Given the description of an element on the screen output the (x, y) to click on. 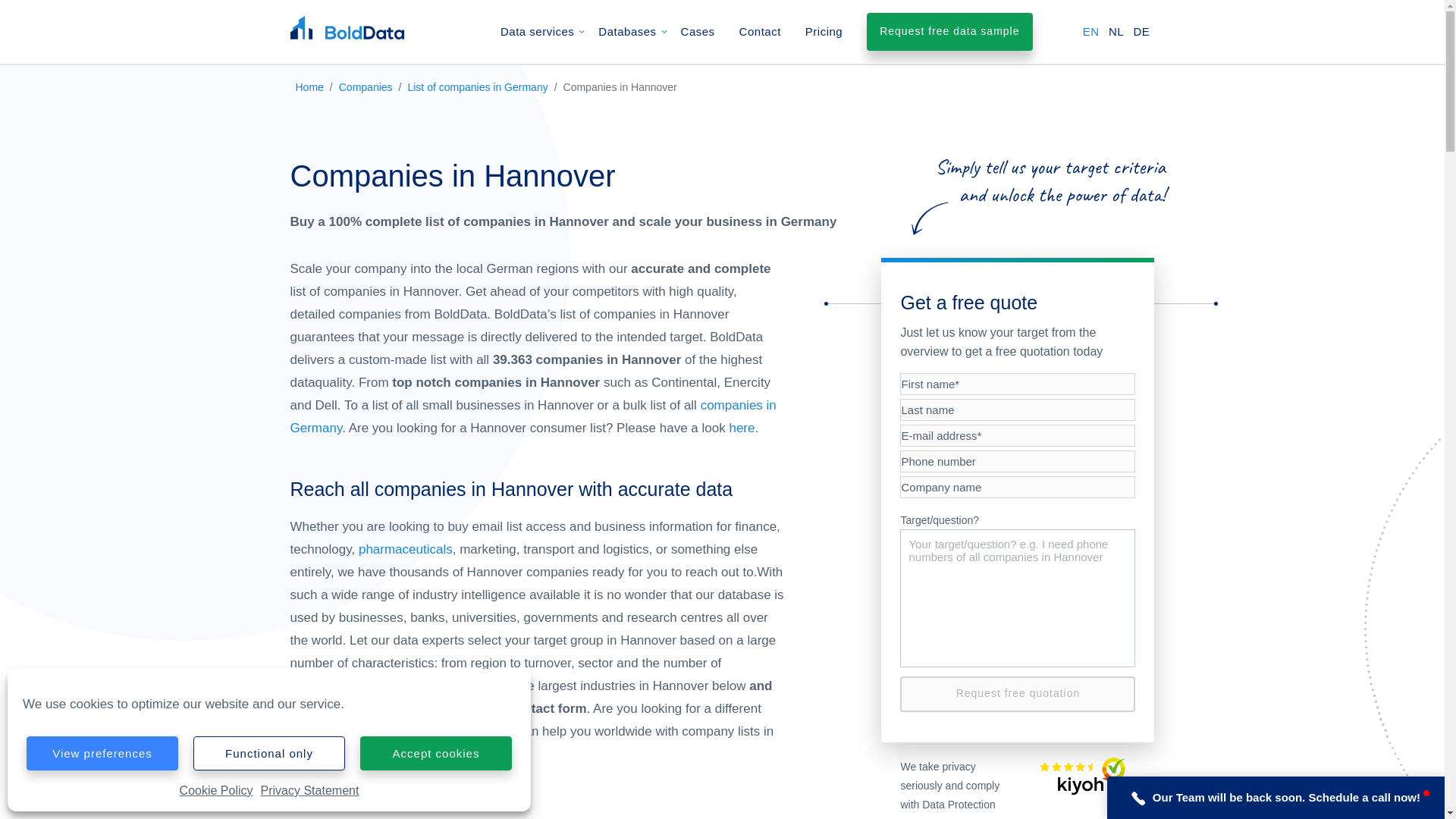
Pricing (824, 31)
Cases (697, 31)
Privacy Statement (309, 791)
Data services (536, 31)
DE (1141, 31)
Cookie Policy (216, 791)
Functional only (269, 753)
Contact (759, 31)
Companies (366, 87)
NL (1115, 31)
Path (1138, 798)
List of companies in Germany (477, 87)
Request free data sample (949, 31)
BoldData logo (346, 27)
Databases (627, 31)
